Given the description of an element on the screen output the (x, y) to click on. 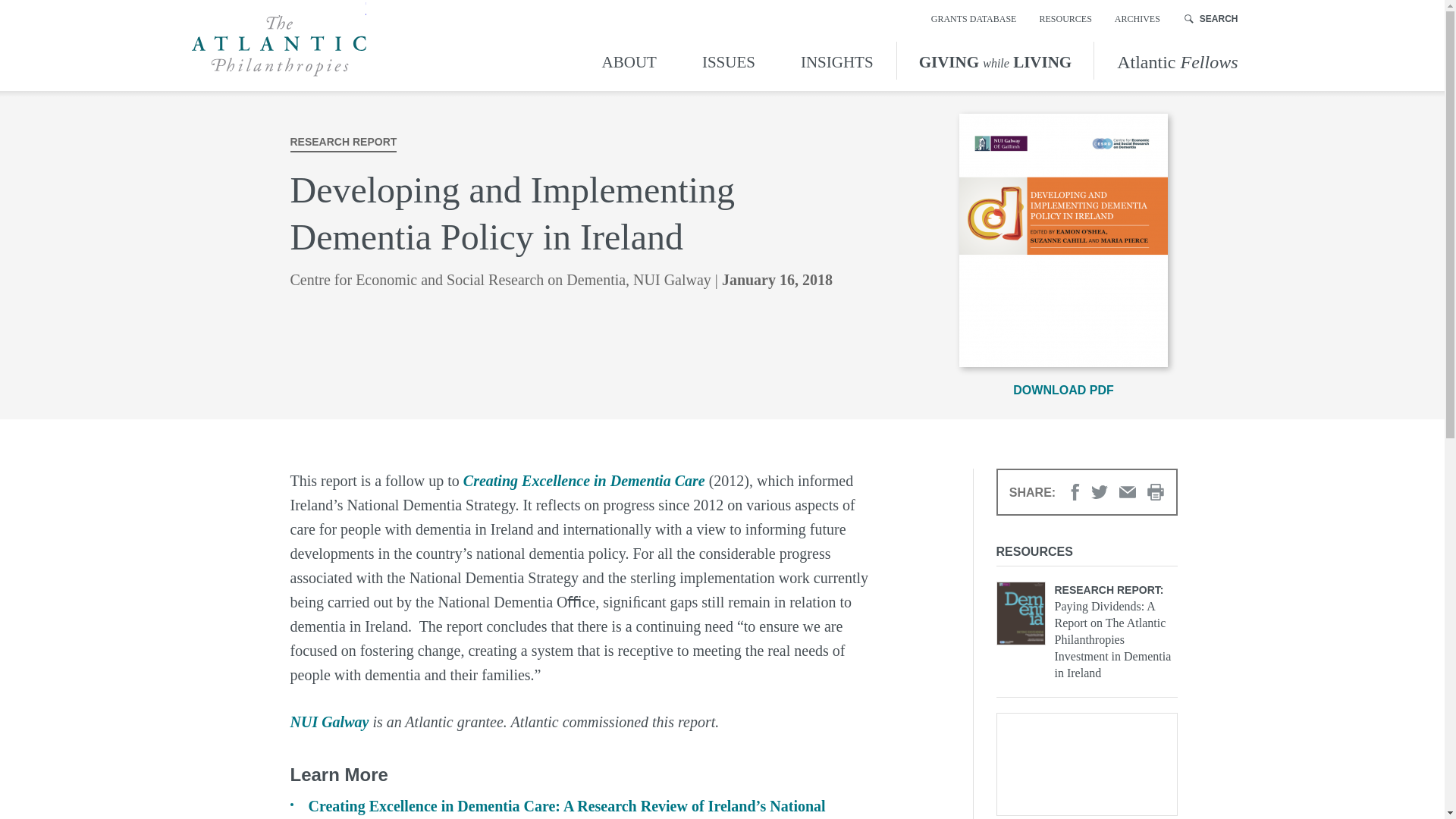
Skip to main content (14, 14)
ISSUES (728, 60)
ARCHIVES (1137, 18)
The Atlantic Philanthropies (277, 45)
SEARCH (1212, 18)
RESOURCES (1064, 18)
ABOUT (632, 60)
GRANTS DATABASE (973, 18)
